Given the description of an element on the screen output the (x, y) to click on. 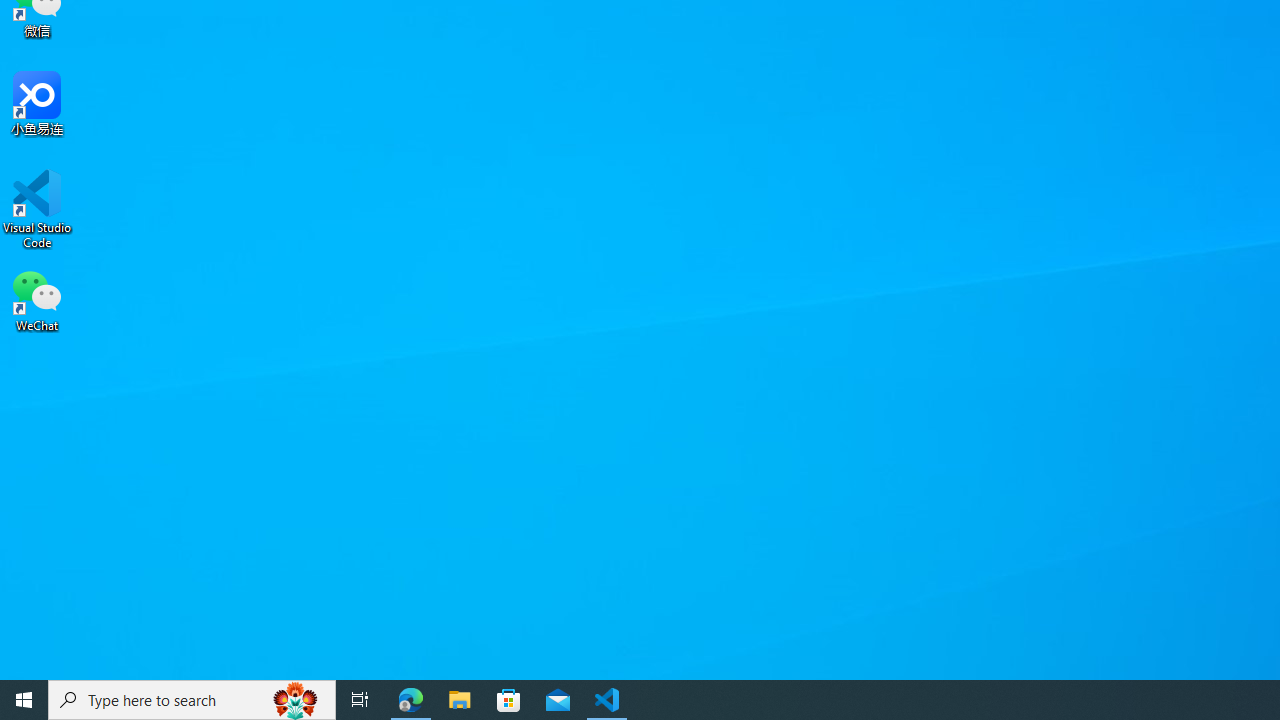
Task View (359, 699)
Visual Studio Code (37, 209)
Microsoft Store (509, 699)
WeChat (37, 299)
Search highlights icon opens search home window (295, 699)
Type here to search (191, 699)
Microsoft Edge - 1 running window (411, 699)
Start (24, 699)
File Explorer (460, 699)
Visual Studio Code - 1 running window (607, 699)
